Given the description of an element on the screen output the (x, y) to click on. 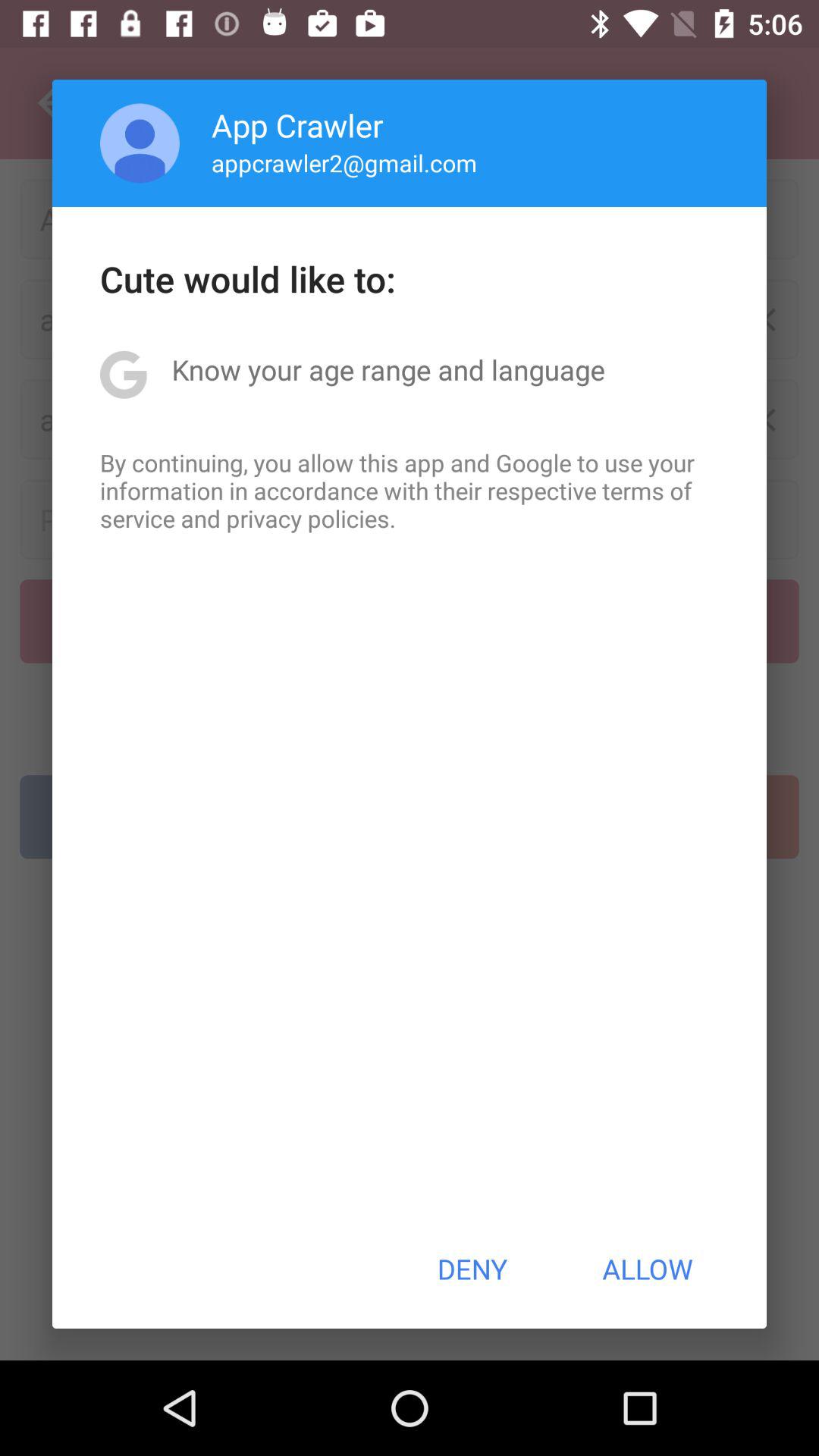
launch the deny (471, 1268)
